Given the description of an element on the screen output the (x, y) to click on. 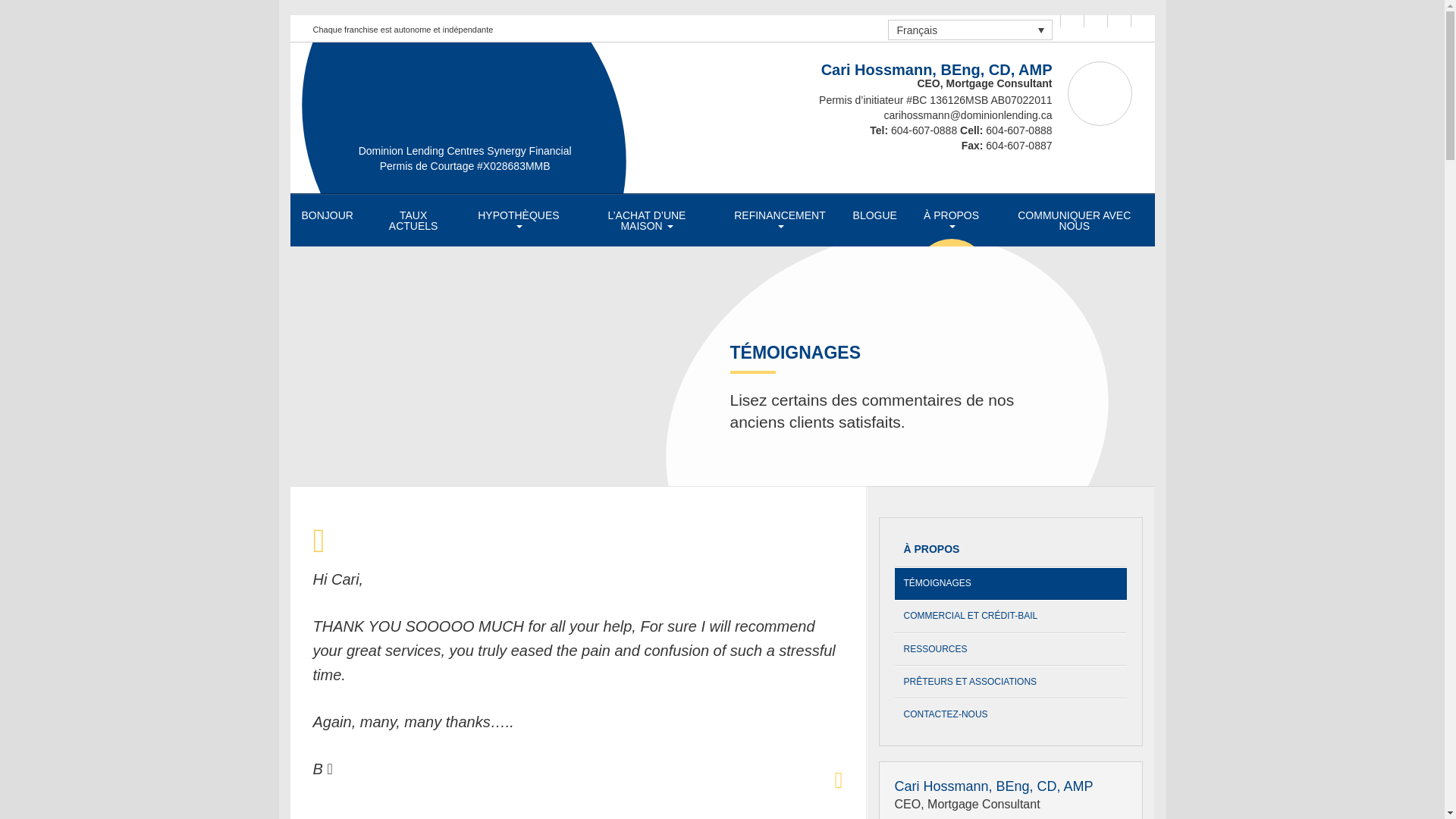
BONJOUR (326, 214)
BLOGUE (874, 214)
604-607-0888 (1018, 130)
TAUX ACTUELS (413, 220)
604-607-0887 (1018, 145)
REFINANCEMENT (779, 220)
604-607-0888 (923, 130)
